Given the description of an element on the screen output the (x, y) to click on. 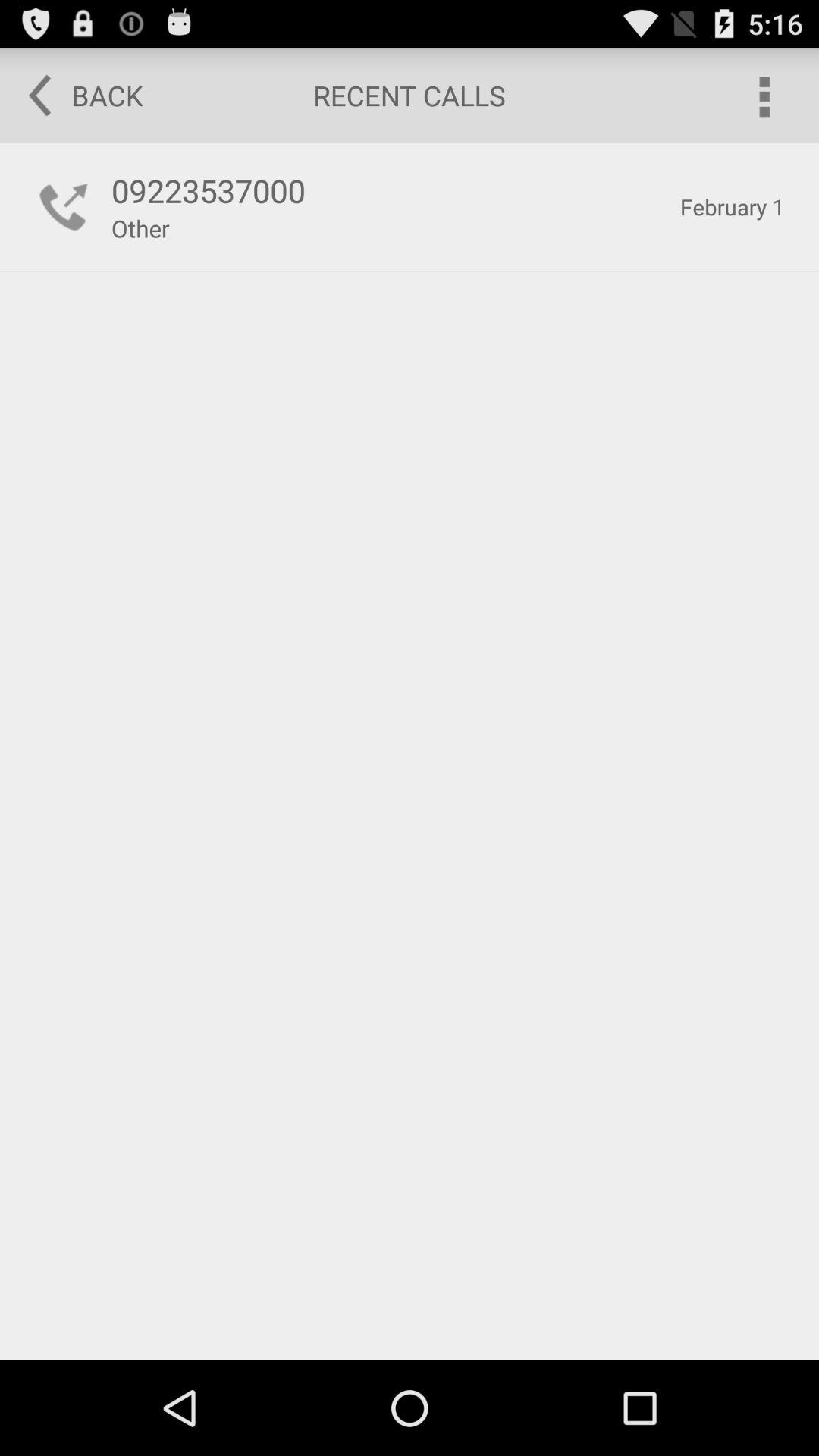
tap the icon next to the 09223537000 app (63, 206)
